Given the description of an element on the screen output the (x, y) to click on. 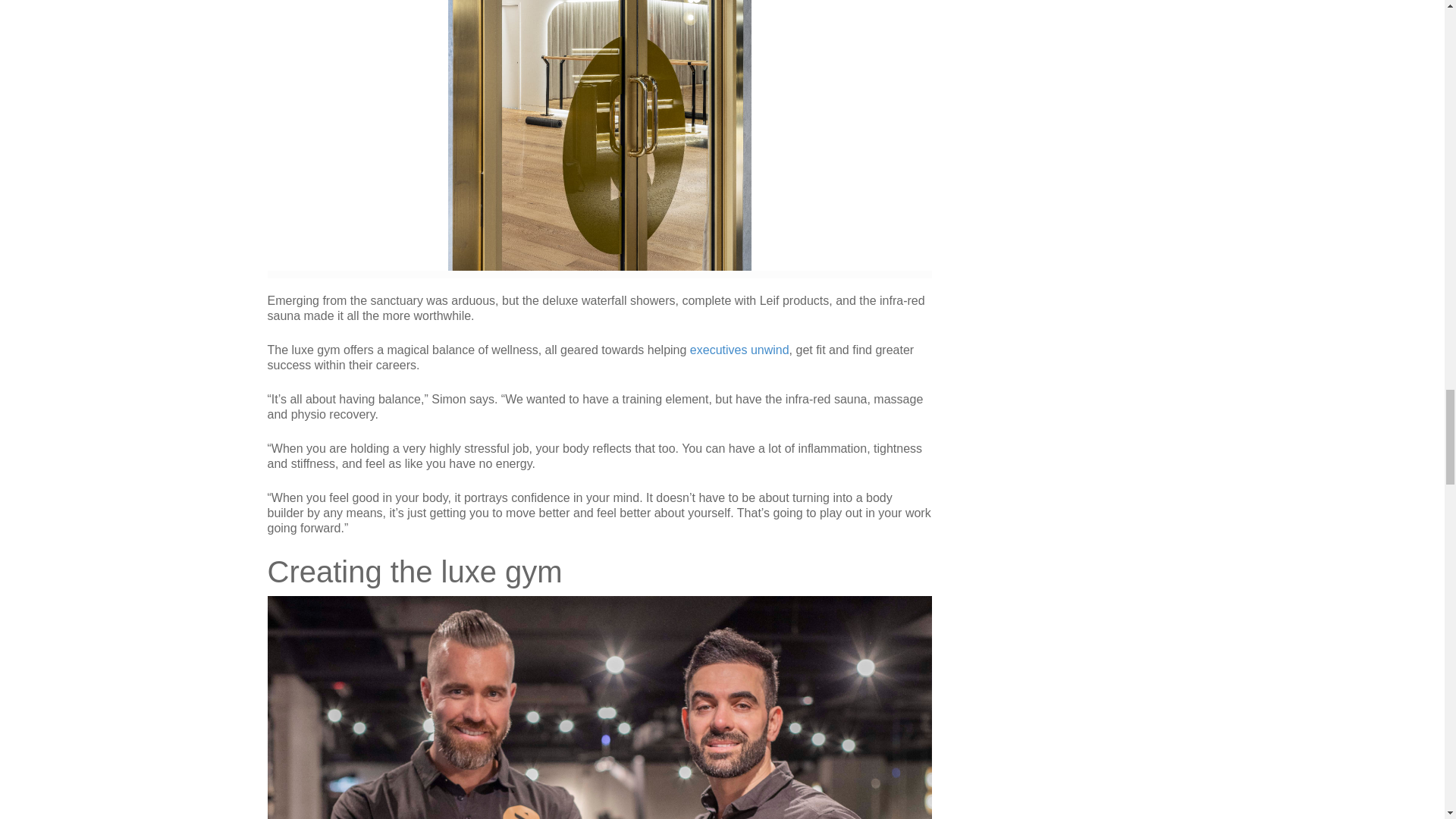
executives unwind (739, 349)
